Given the description of an element on the screen output the (x, y) to click on. 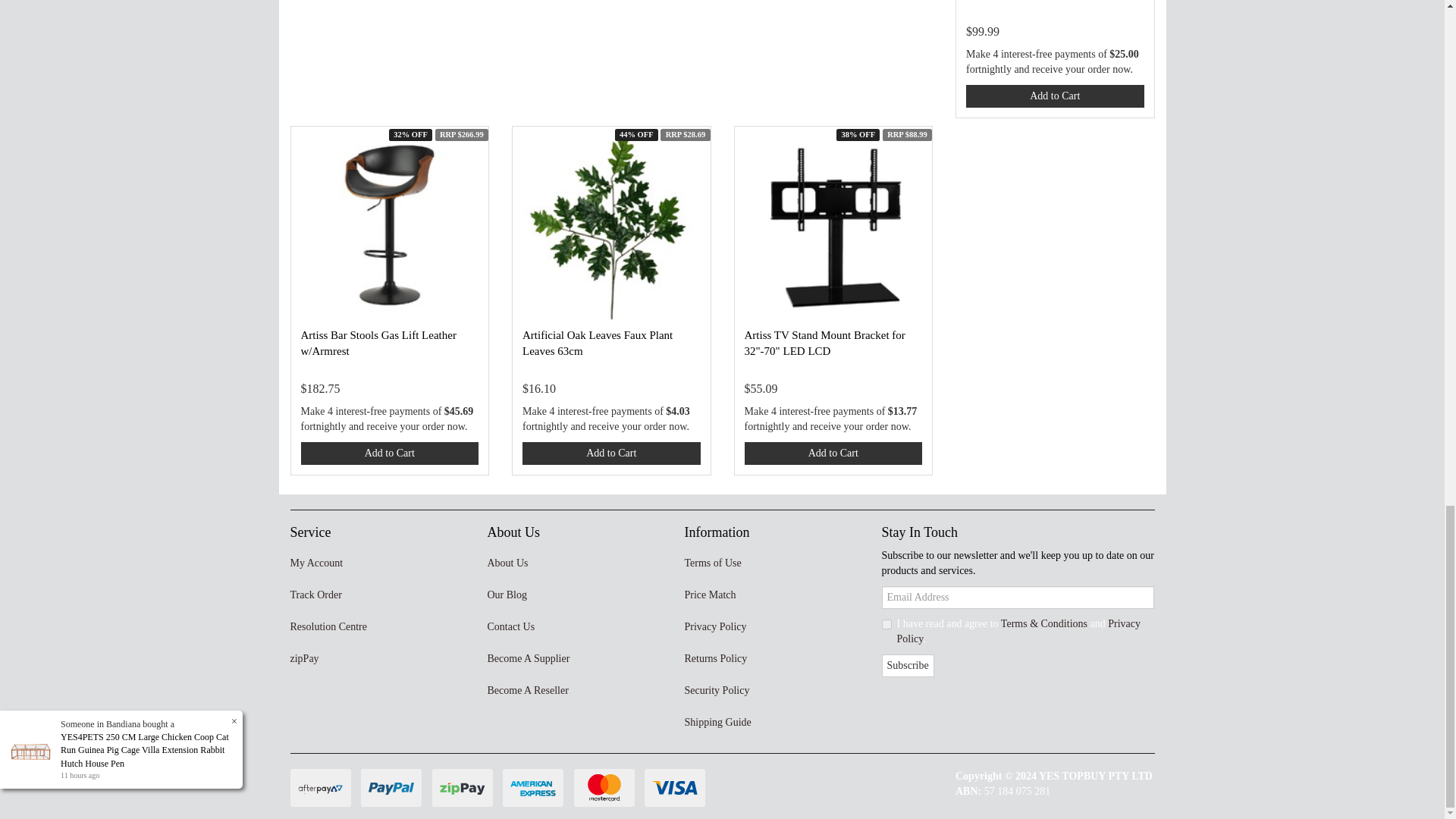
Subscribe (906, 665)
y (885, 624)
Add Artificial Oak Leaves Faux Plant Leaves 63cm to Cart (611, 453)
